Given the description of an element on the screen output the (x, y) to click on. 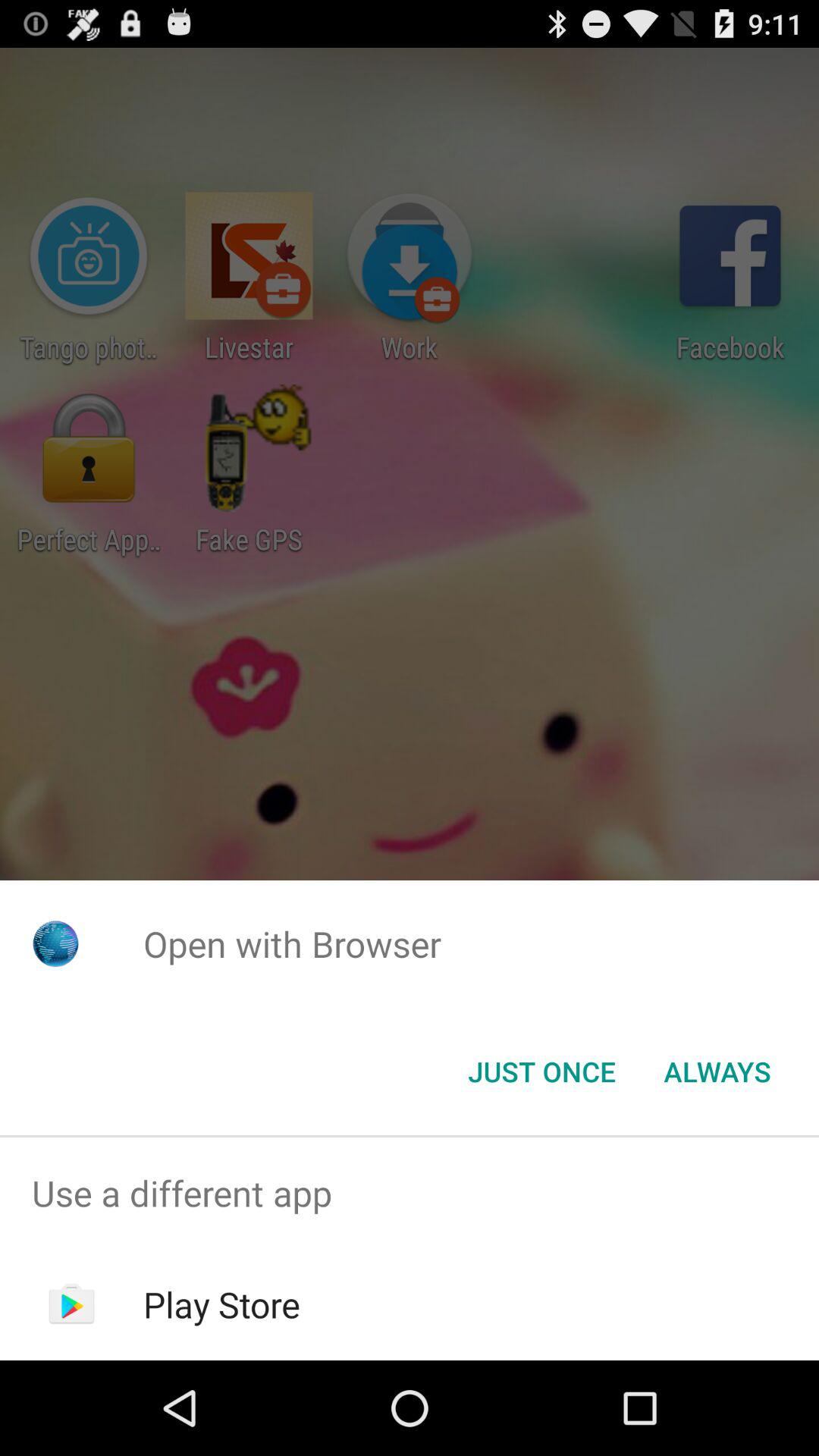
launch use a different (409, 1192)
